Given the description of an element on the screen output the (x, y) to click on. 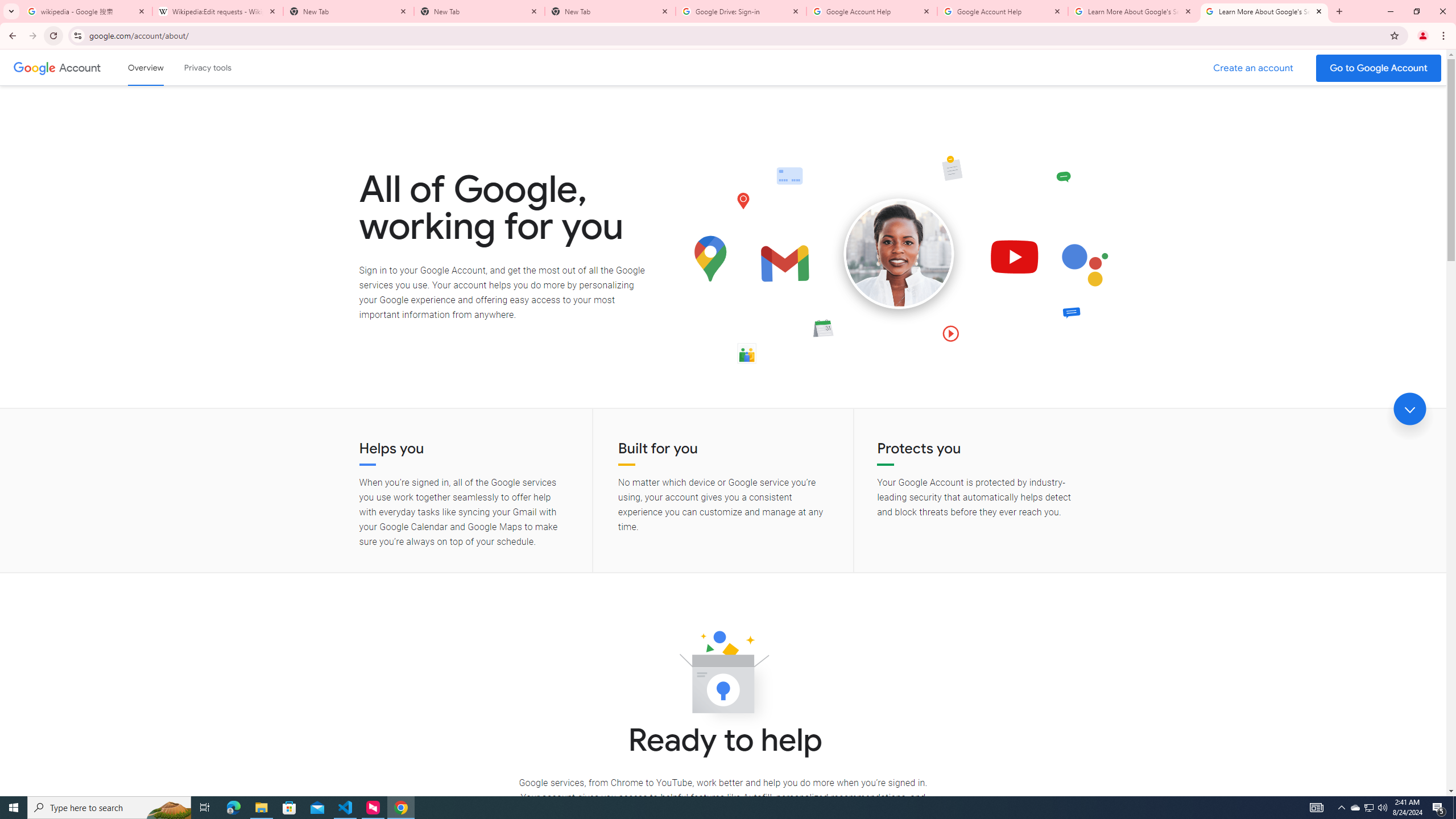
Privacy tools (207, 67)
Create a Google Account (1253, 67)
Google Account overview (145, 67)
Google Account Help (1002, 11)
Google Account (80, 67)
